Given the description of an element on the screen output the (x, y) to click on. 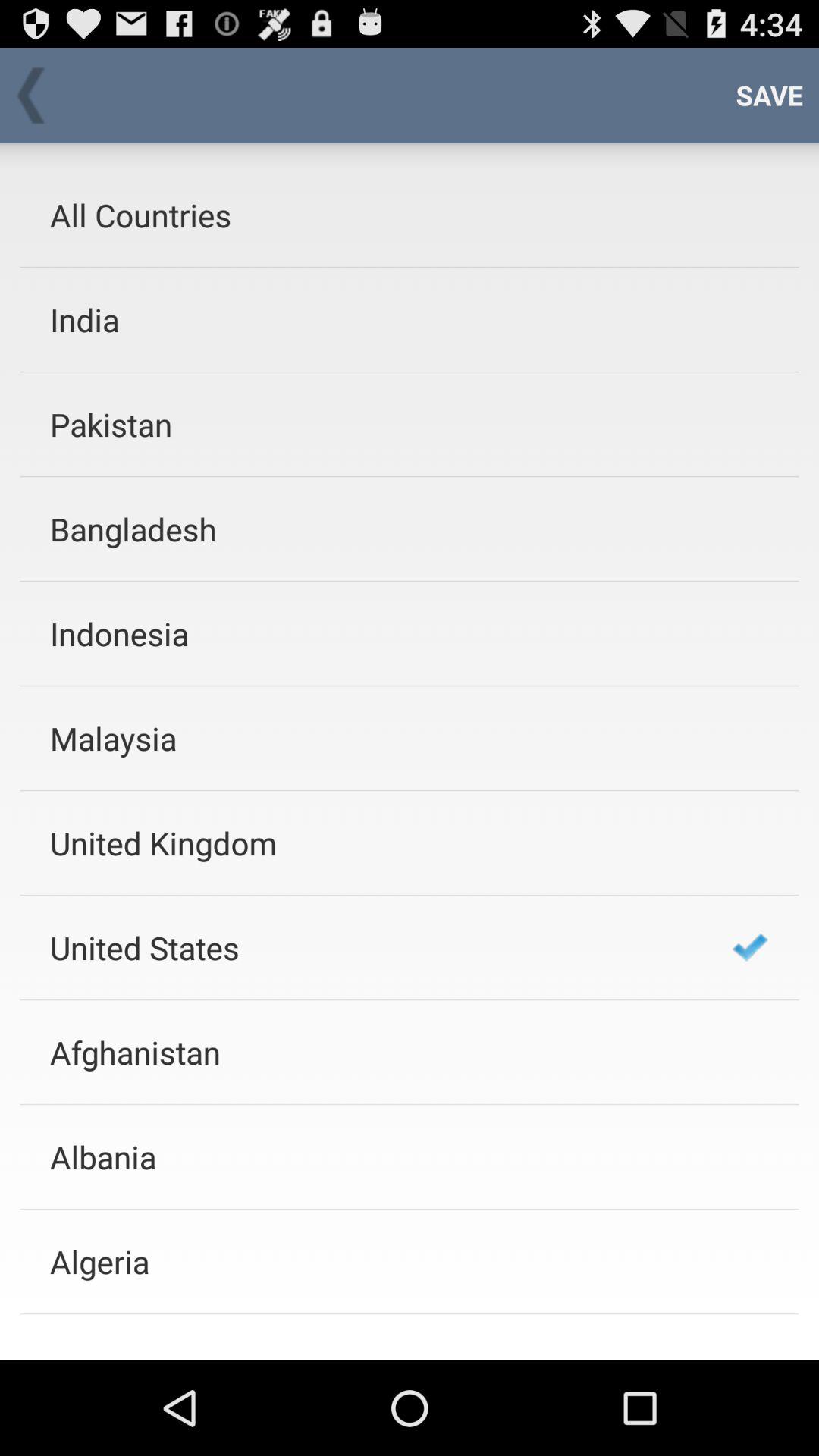
choose the item above the united kingdom (371, 737)
